Given the description of an element on the screen output the (x, y) to click on. 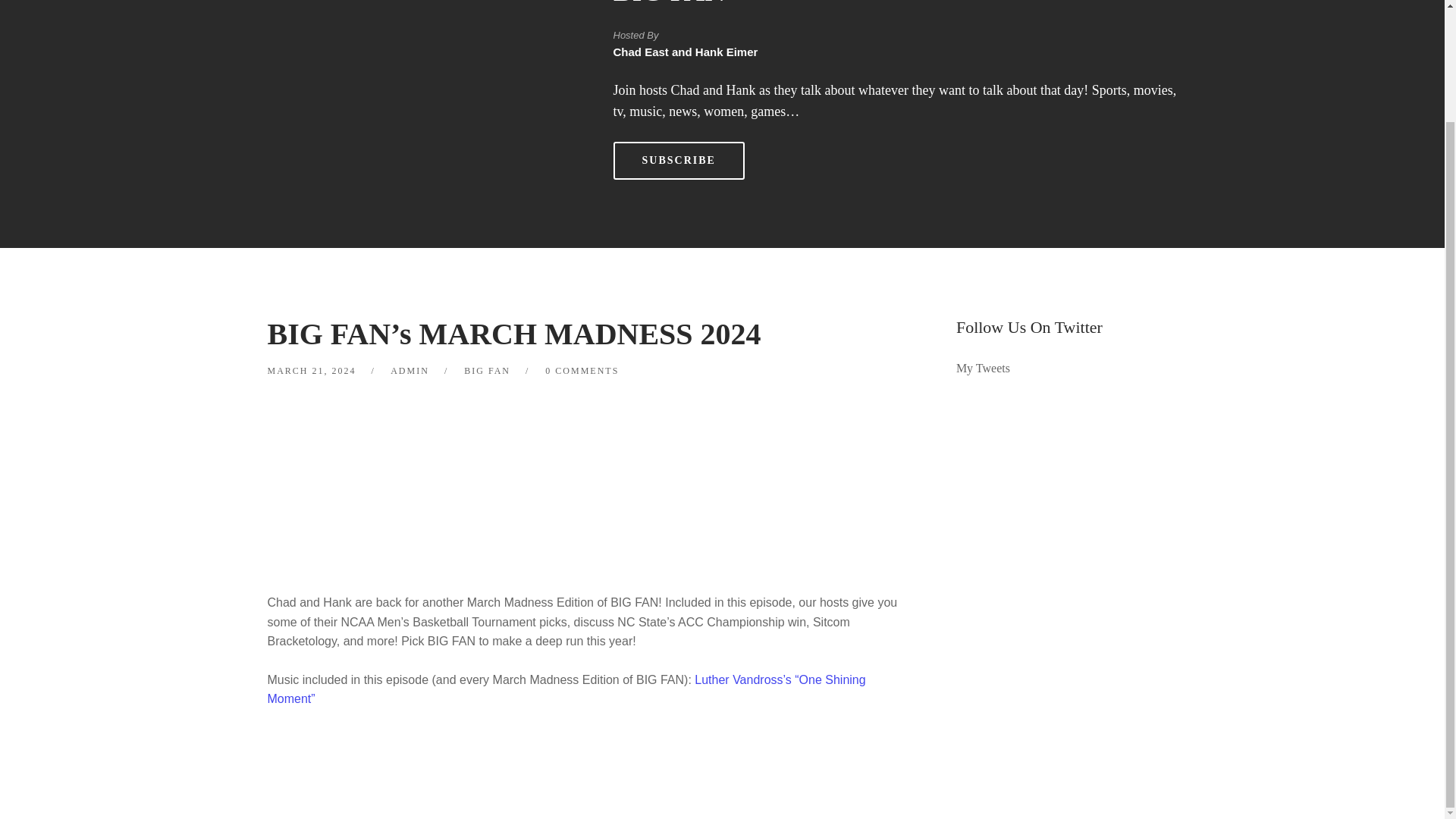
BIG FAN (668, 3)
ADMIN (409, 370)
BIG FAN (487, 370)
My Tweets (983, 367)
0 COMMENTS (581, 370)
SUBSCRIBE (678, 160)
